Given the description of an element on the screen output the (x, y) to click on. 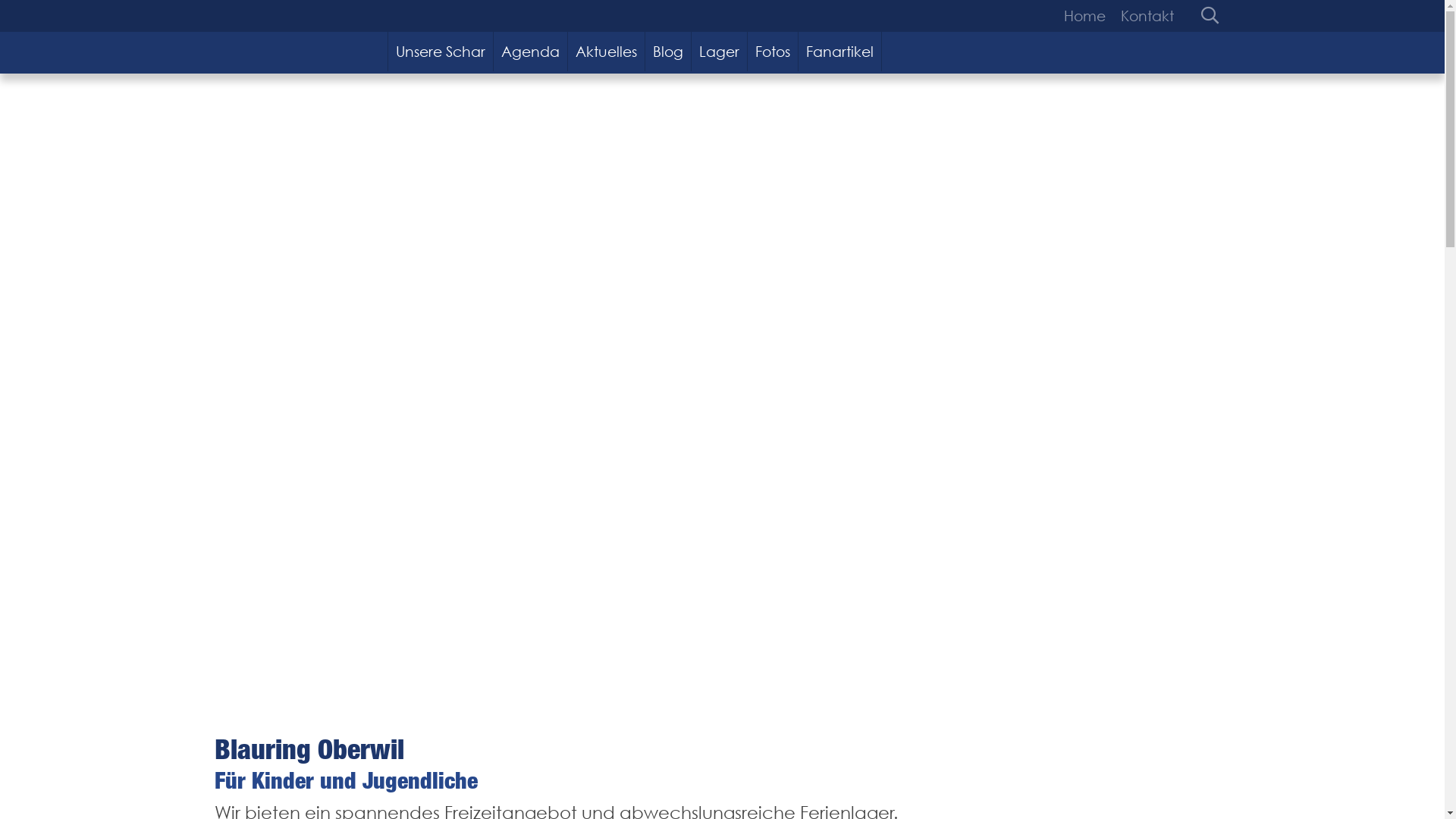
Home Element type: text (1087, 15)
Fanartikel Element type: text (839, 51)
Blog Element type: text (668, 51)
Agenda Element type: text (530, 51)
Fotos Element type: text (772, 51)
Kontakt Element type: text (1143, 15)
Unsere Schar Element type: text (440, 51)
Lager Element type: text (719, 51)
Aktuelles Element type: text (606, 51)
